Given the description of an element on the screen output the (x, y) to click on. 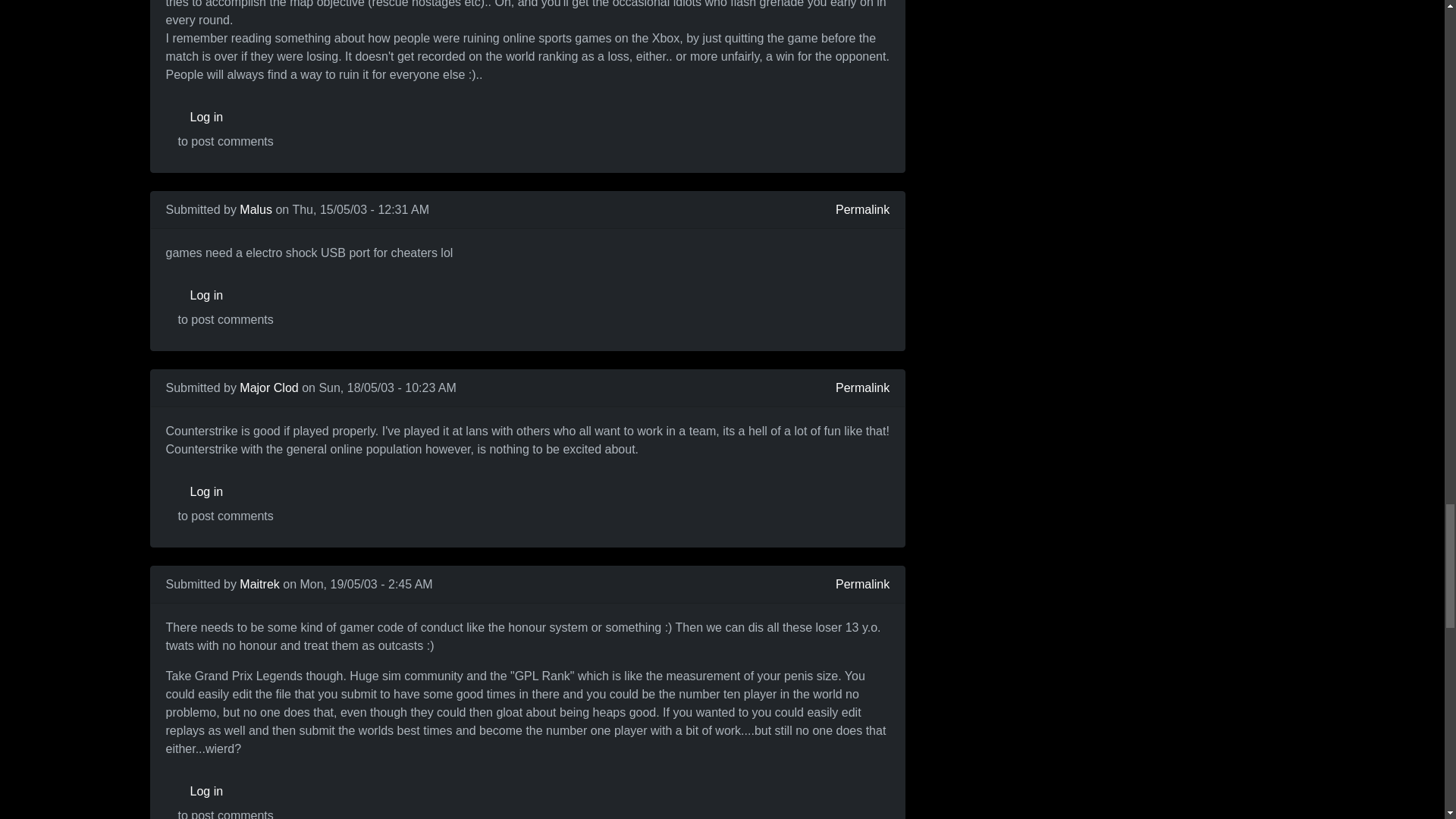
View user profile. (269, 387)
View user profile. (256, 209)
